Given the description of an element on the screen output the (x, y) to click on. 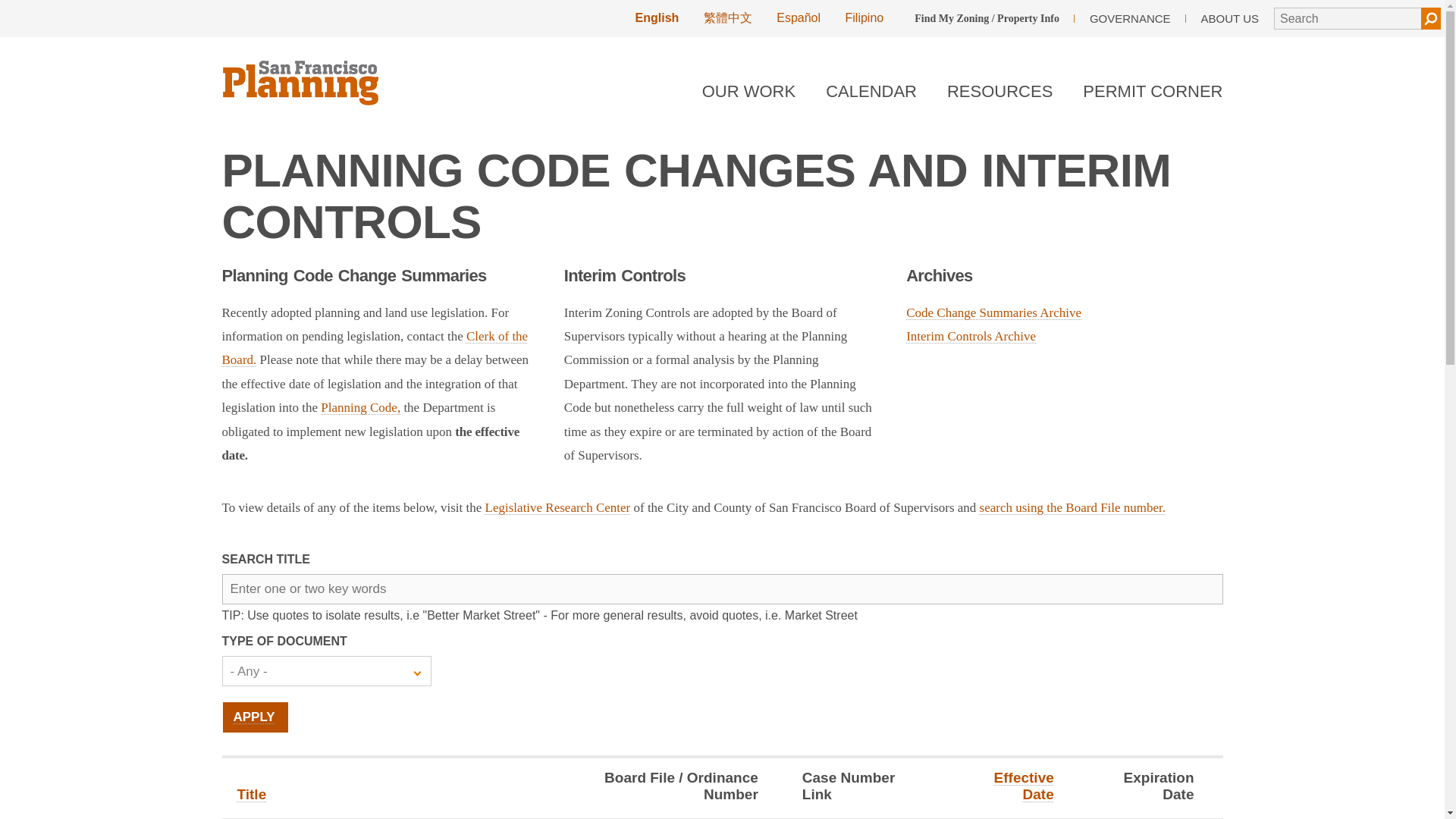
sort by Title (250, 794)
Explore the variety of topics we cover (747, 94)
sort by Effective Date (1024, 785)
external website (1072, 507)
Enter the terms you wish to search for. (1347, 18)
Locate forms and documents (999, 94)
external website (557, 507)
ABOUT US (1230, 18)
Home (301, 73)
GOVERNANCE (1130, 18)
